Given the description of an element on the screen output the (x, y) to click on. 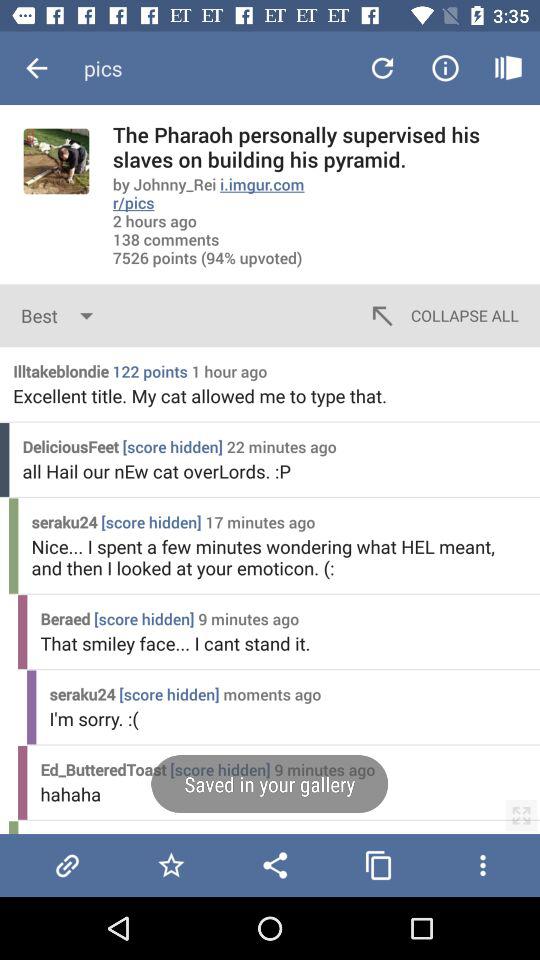
share (275, 865)
